Given the description of an element on the screen output the (x, y) to click on. 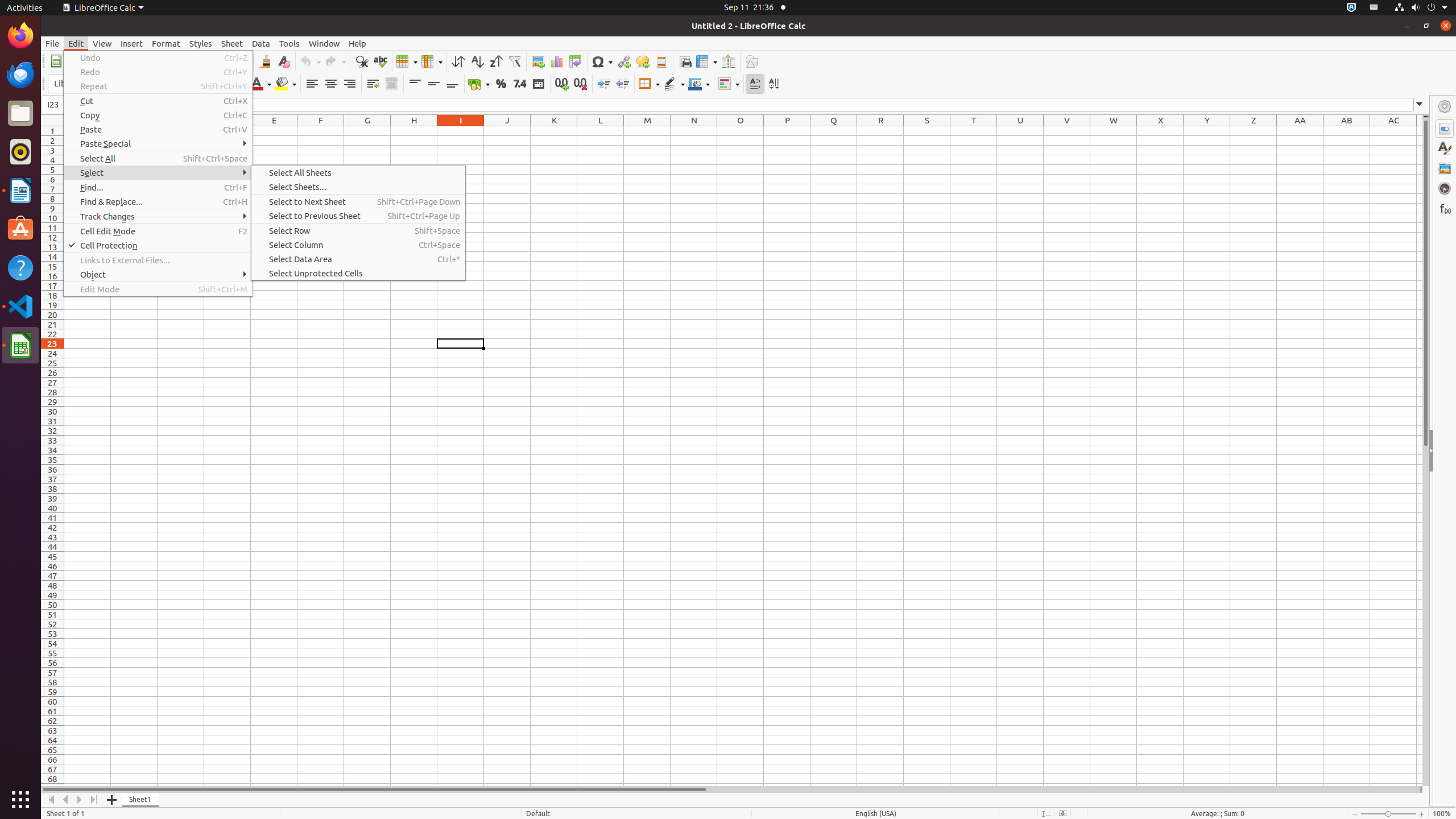
Select Data Area Element type: menu-item (358, 258)
Sheet Element type: menu (231, 43)
Clear Element type: push-button (283, 61)
Format Element type: menu (165, 43)
Select Unprotected Cells Element type: menu-item (358, 273)
